Given the description of an element on the screen output the (x, y) to click on. 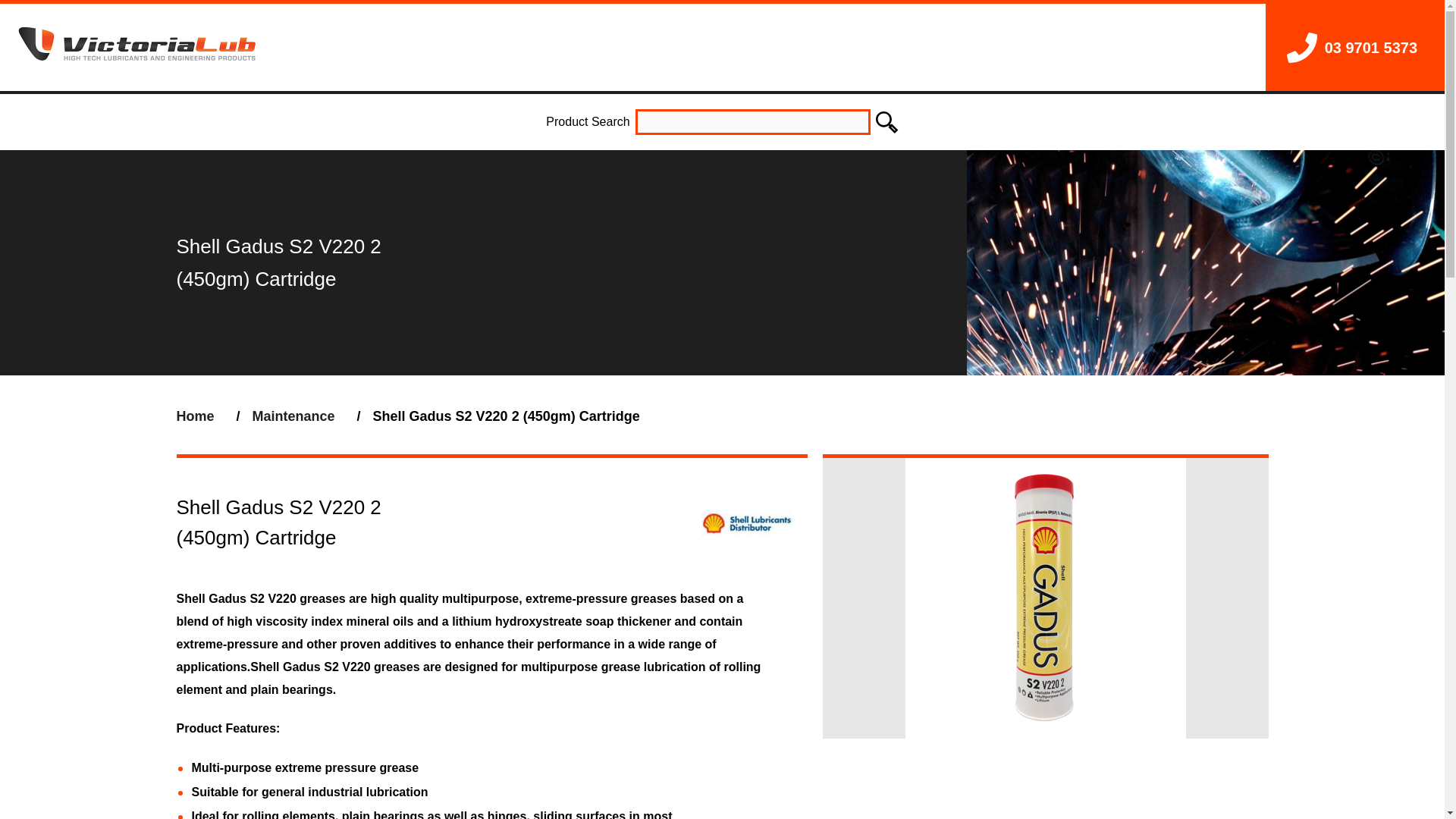
Go to the Maintenance Industry archives. (292, 416)
Go to Victoria Lubricants. (195, 416)
Maintenance (292, 416)
Home (195, 416)
03 9701 5373 (1351, 46)
